Given the description of an element on the screen output the (x, y) to click on. 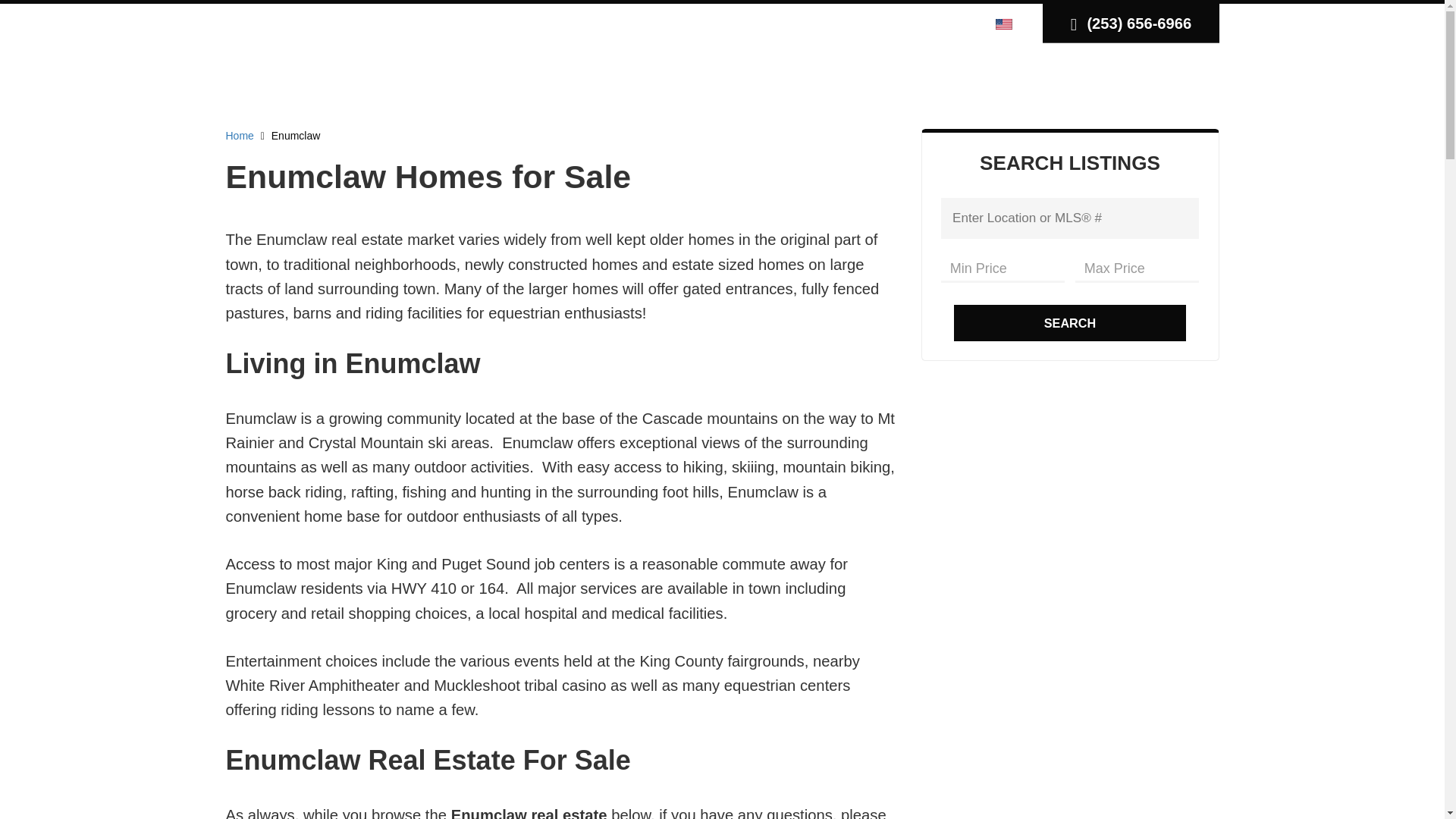
FINANCING (996, 77)
Select Language (1008, 23)
Register (920, 23)
CONTACT (1171, 77)
Home (239, 135)
NEIGHBORHOODS (643, 77)
CONDOS (762, 77)
SEARCH ALL (510, 77)
ABOUT (1085, 77)
SELL (914, 77)
HOMES (845, 77)
Login (872, 23)
Home Page (306, 50)
